Given the description of an element on the screen output the (x, y) to click on. 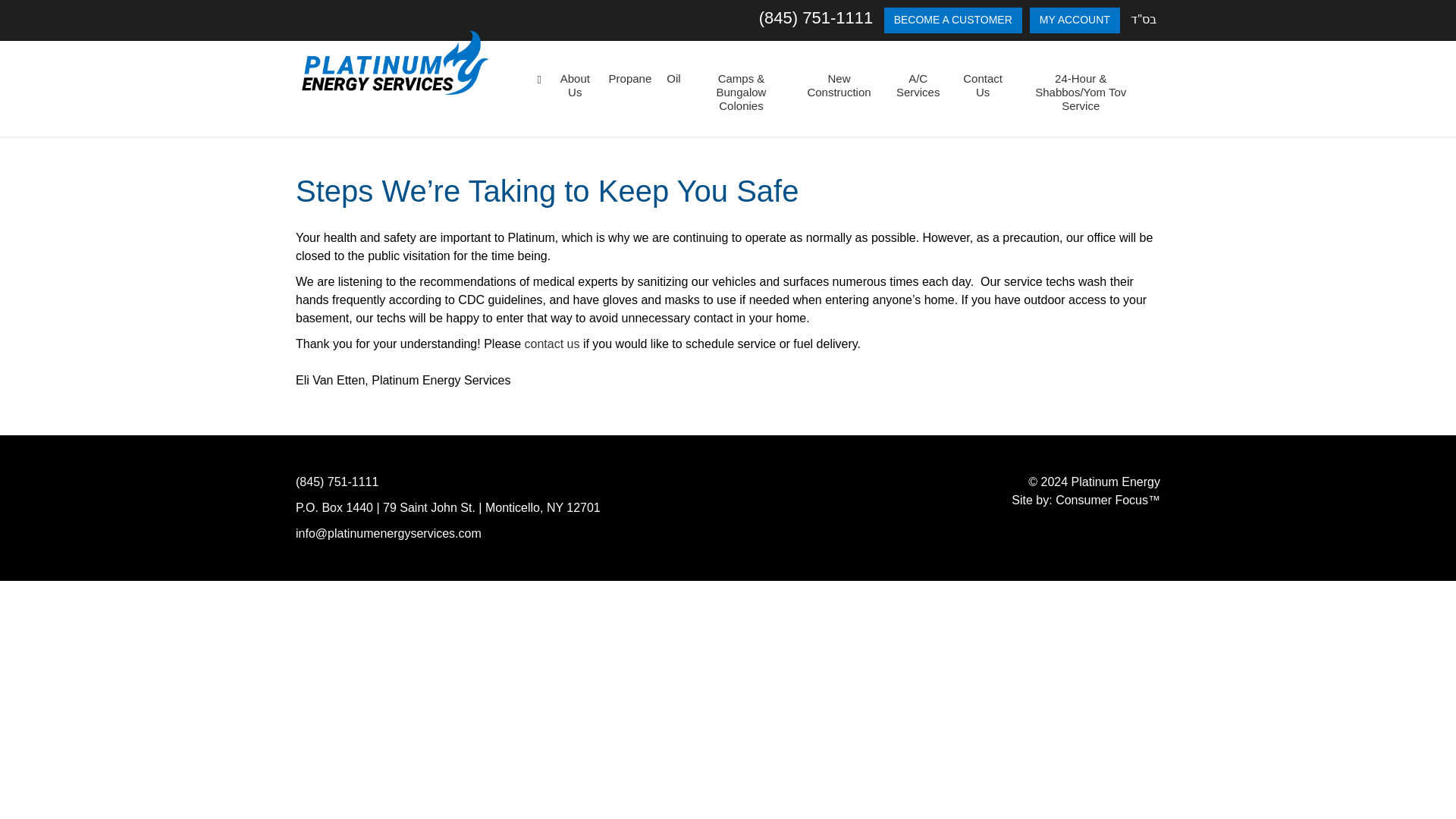
Oil (673, 78)
contact us (551, 343)
Propane (630, 78)
About Us (574, 85)
About Us (574, 85)
Oil (673, 78)
Propane (630, 78)
Contact Us (982, 85)
BECOME A CUSTOMER (952, 20)
New Construction (838, 85)
